Given the description of an element on the screen output the (x, y) to click on. 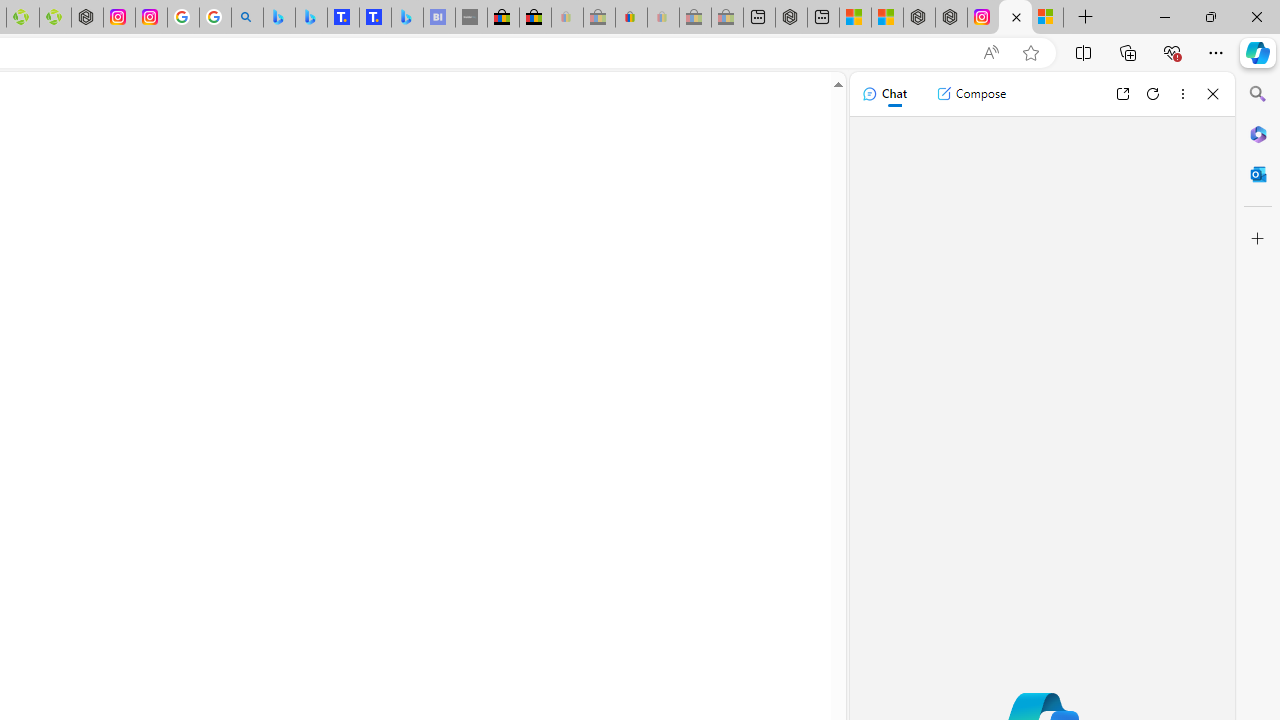
Compose (971, 93)
Nordace - Summer Adventures 2024 (950, 17)
Nordace - Nordace Edin Collection (87, 17)
Safety in Our Products - Google Safety Center (182, 17)
Microsoft Bing Travel - Flights from Hong Kong to Bangkok (279, 17)
Threats and offensive language policy | eBay (630, 17)
Shangri-La Bangkok, Hotel reviews and Room rates (374, 17)
